Given the description of an element on the screen output the (x, y) to click on. 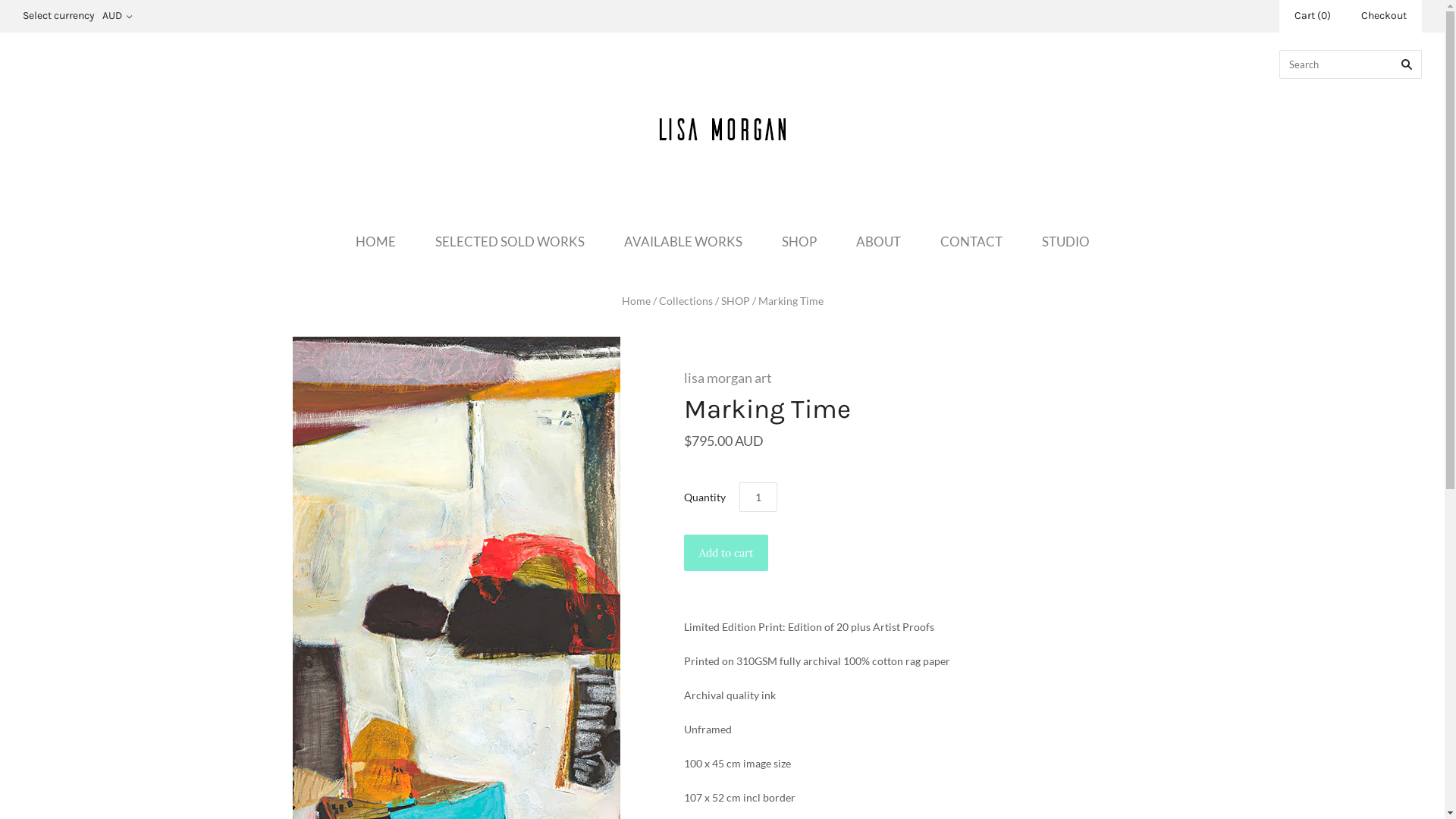
Collections Element type: text (685, 300)
Add to cart Element type: text (726, 552)
ABOUT Element type: text (877, 241)
AVAILABLE WORKS Element type: text (682, 241)
SELECTED SOLD WORKS Element type: text (509, 241)
SHOP Element type: text (734, 300)
Home Element type: text (635, 300)
Checkout Element type: text (1383, 16)
SHOP Element type: text (798, 241)
Cart (0) Element type: text (1312, 16)
HOME Element type: text (374, 241)
CONTACT Element type: text (971, 241)
STUDIO Element type: text (1065, 241)
lisa morgan art Element type: text (873, 378)
